Given the description of an element on the screen output the (x, y) to click on. 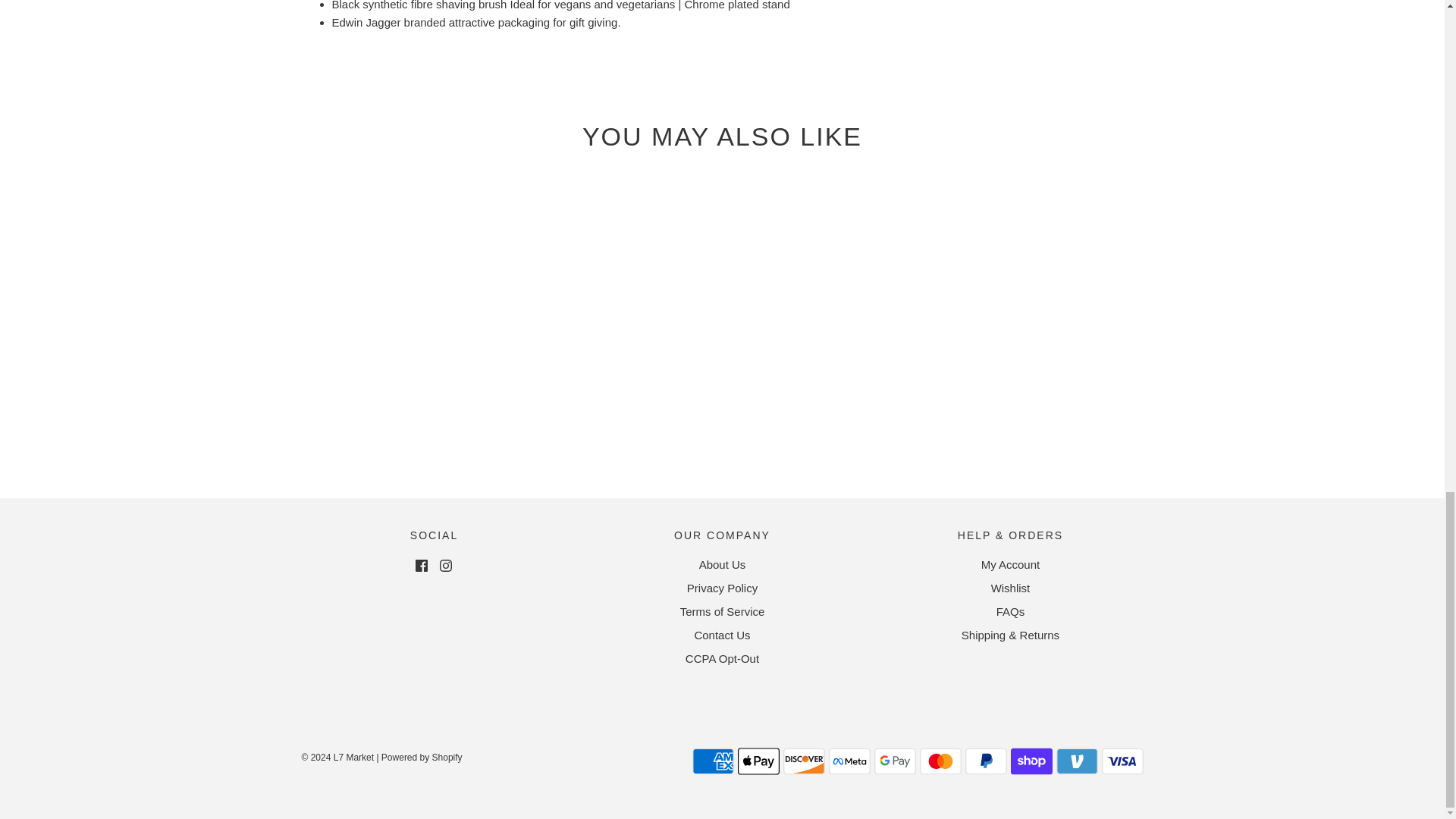
Instagram icon (445, 565)
Facebook icon (421, 565)
Mastercard (939, 761)
Google Pay (894, 761)
Apple Pay (757, 761)
American Express (712, 761)
Meta Pay (848, 761)
PayPal (984, 761)
Venmo (1076, 761)
Discover (803, 761)
